Given the description of an element on the screen output the (x, y) to click on. 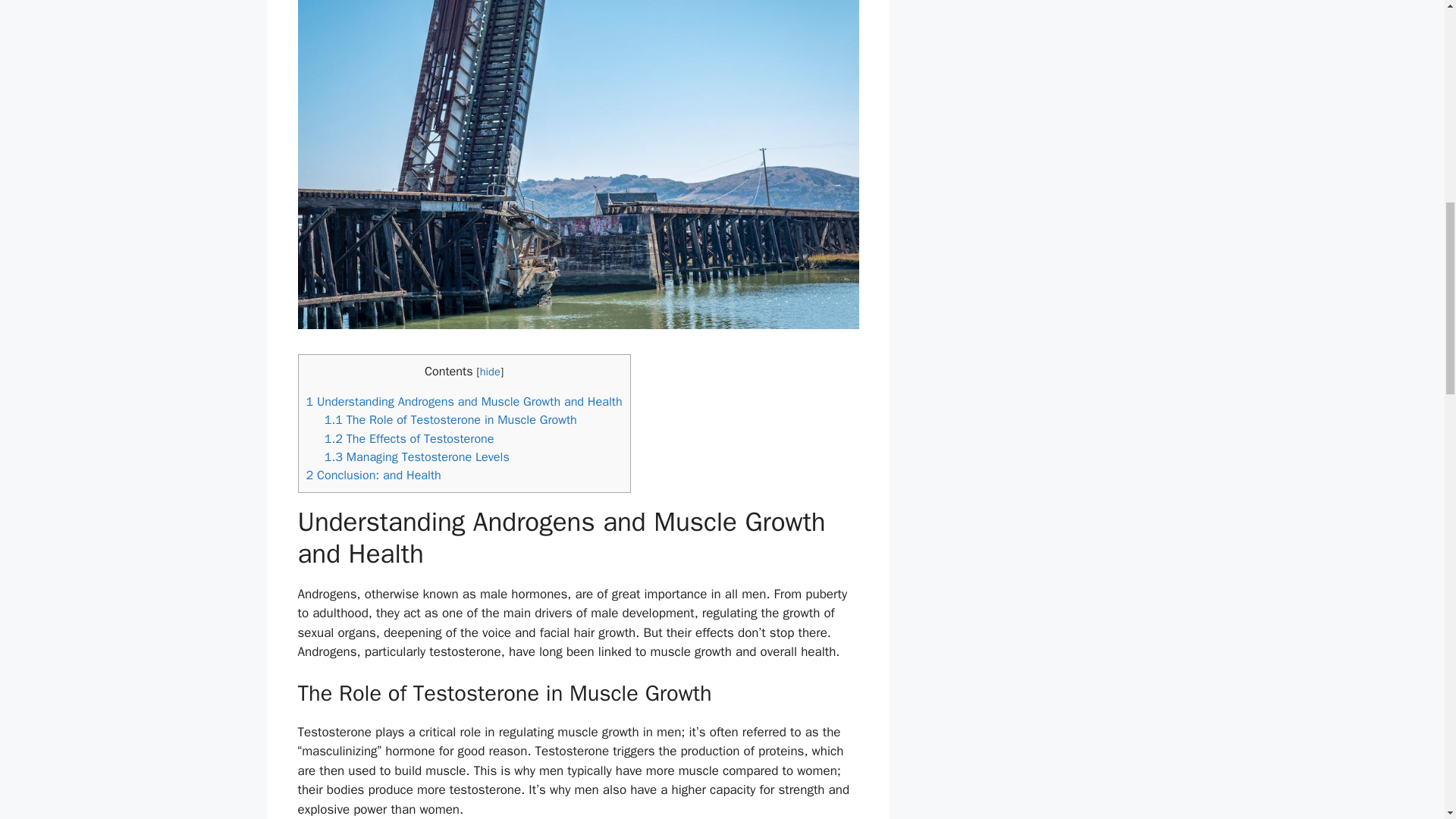
1.3 Managing Testosterone Levels (416, 456)
1 Understanding Androgens and Muscle Growth and Health (464, 401)
hide (490, 371)
1.1 The Role of Testosterone in Muscle Growth (450, 419)
2 Conclusion: and Health (373, 474)
1.2 The Effects of Testosterone (409, 438)
